Given the description of an element on the screen output the (x, y) to click on. 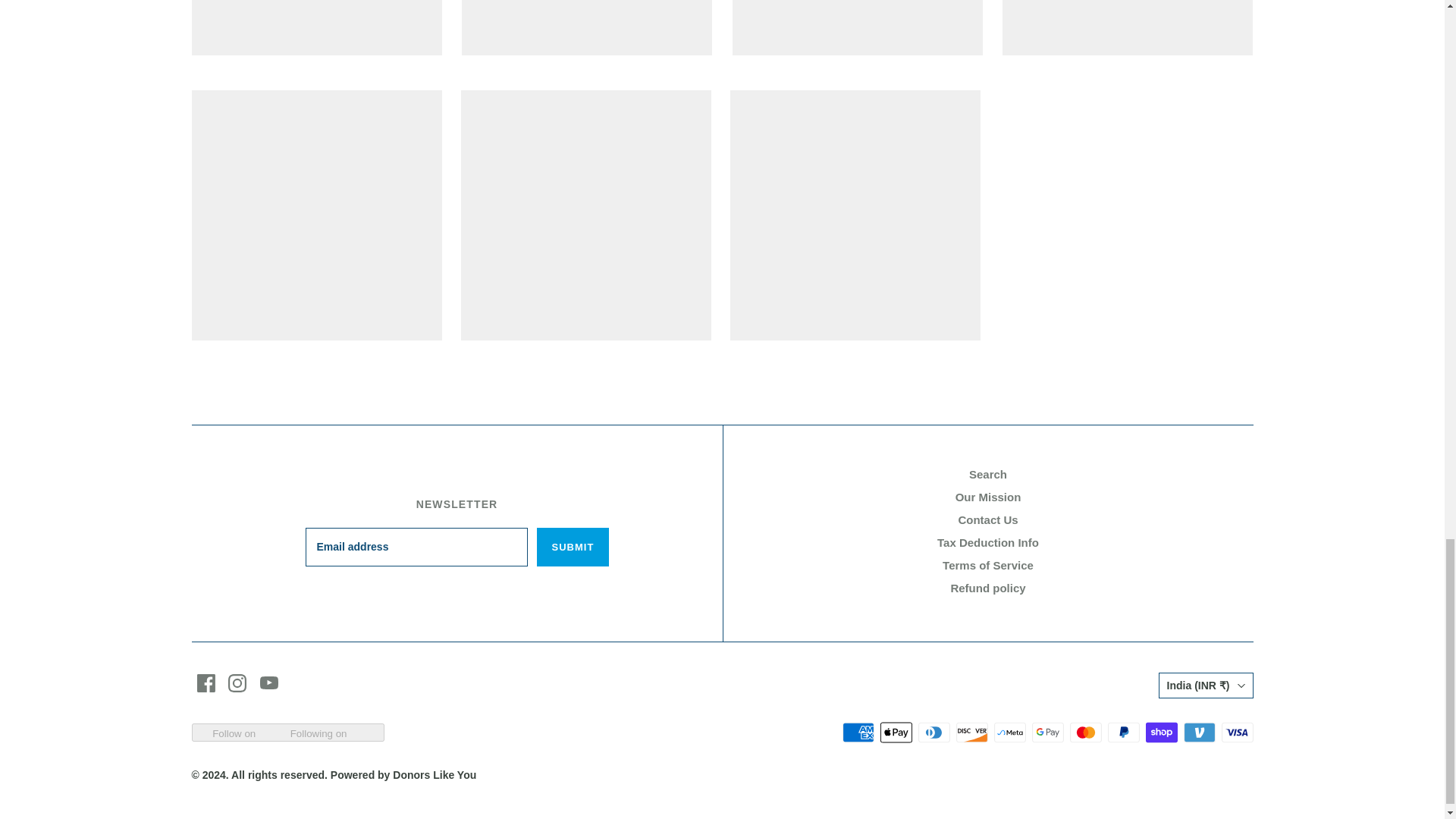
Apple Pay (895, 732)
Mastercard (1084, 732)
American Express (857, 732)
Discover (971, 732)
Google Pay (1046, 732)
Diners Club (933, 732)
Meta Pay (1008, 732)
